Given the description of an element on the screen output the (x, y) to click on. 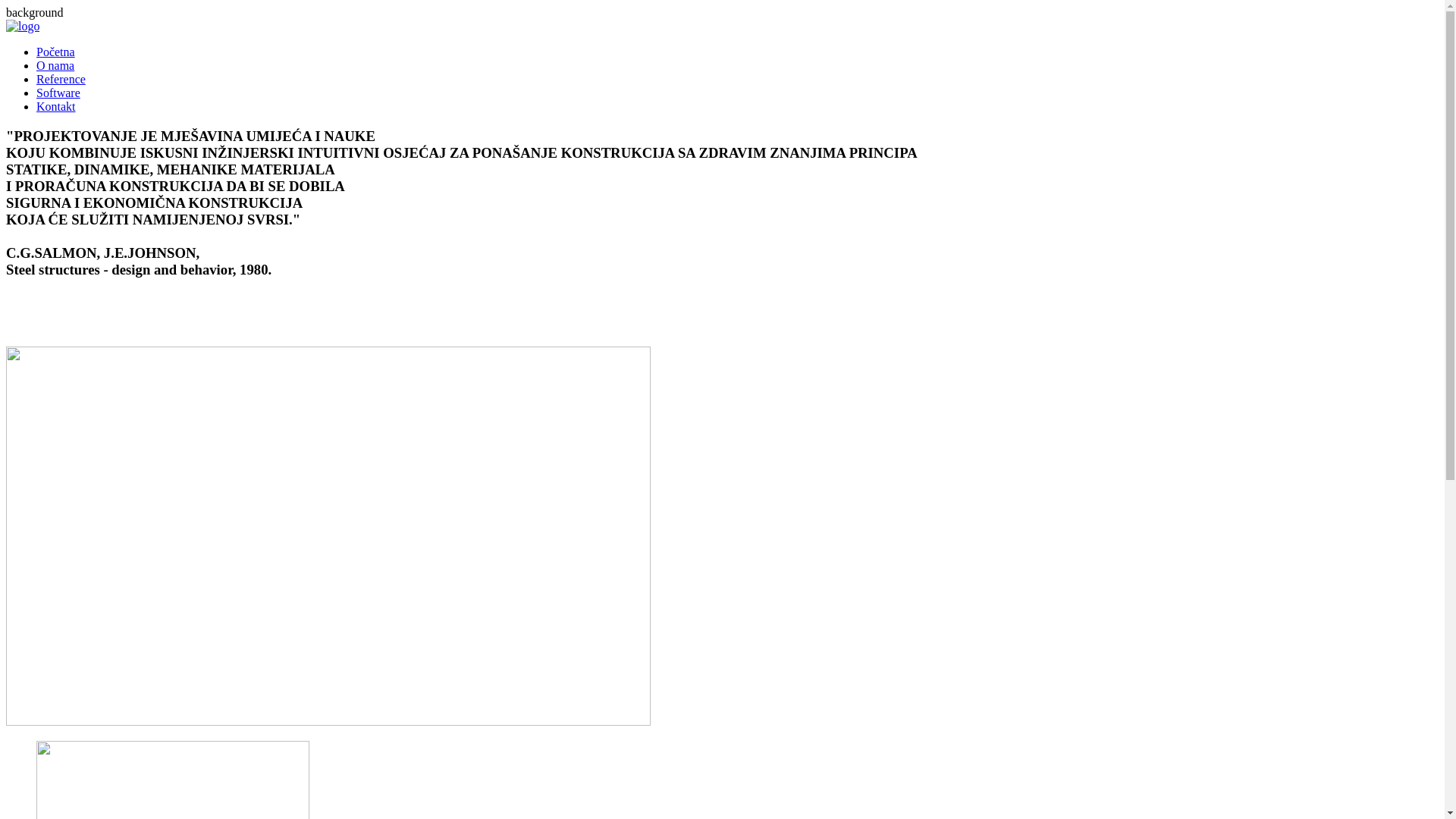
Kontakt Element type: text (55, 106)
O nama Element type: text (55, 65)
Reference Element type: text (60, 78)
Software Element type: text (58, 92)
